Given the description of an element on the screen output the (x, y) to click on. 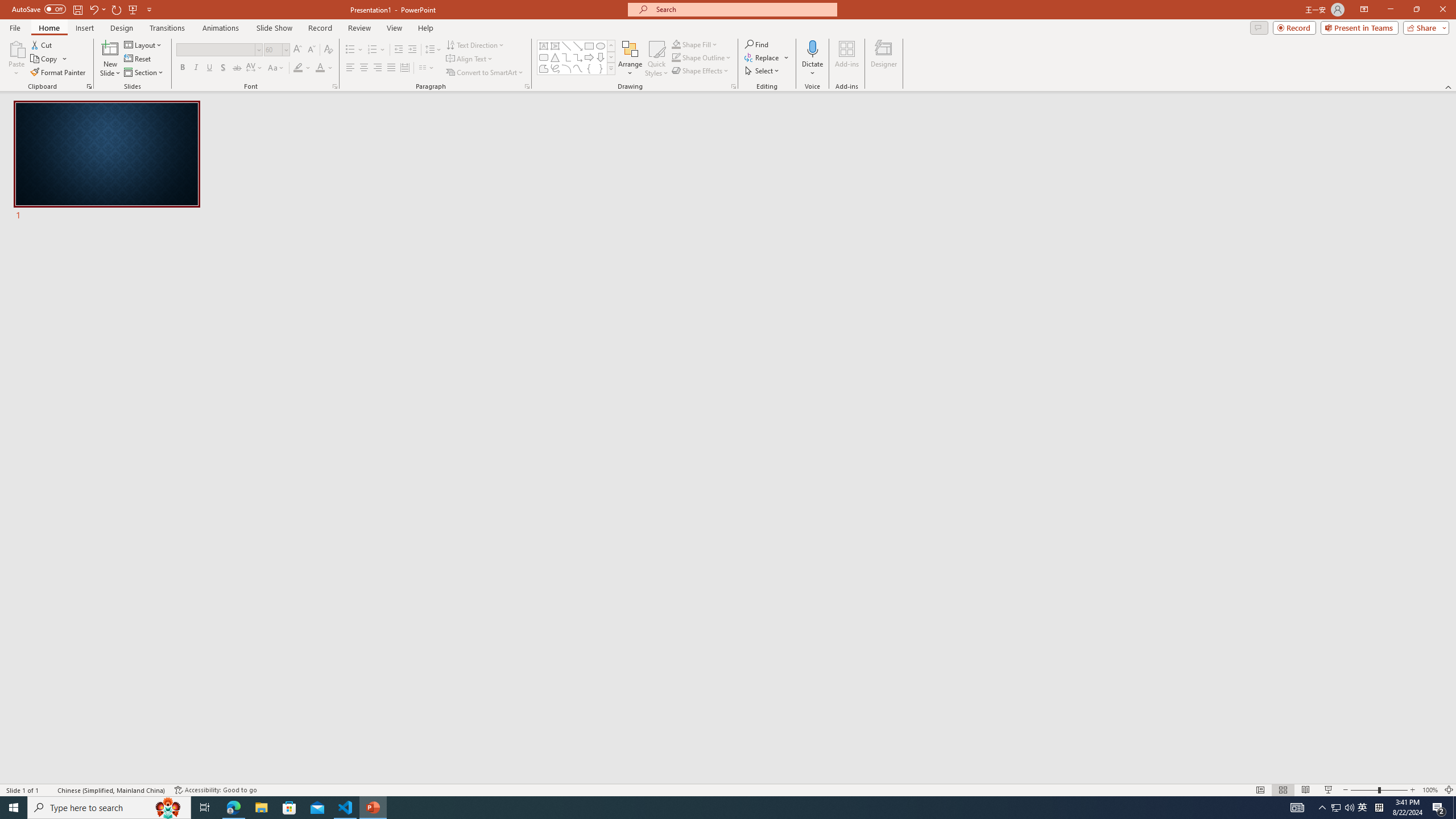
Line Spacing (433, 49)
Increase Font Size (297, 49)
Character Spacing (254, 67)
Bold (182, 67)
Spell Check  (49, 790)
